Given the description of an element on the screen output the (x, y) to click on. 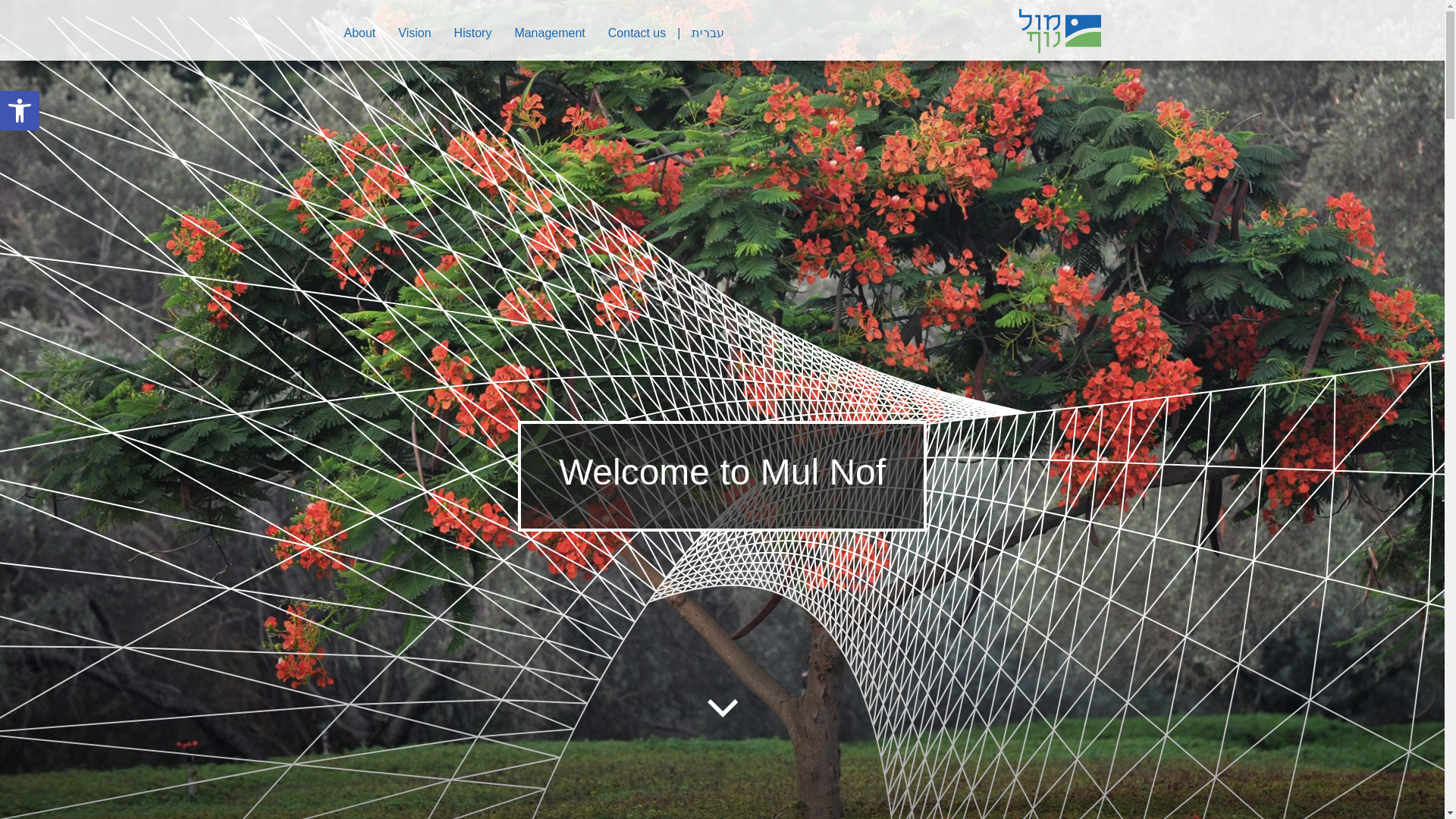
WEBSITE ACCESSIBILITY (19, 110)
WEBSITE ACCESSIBILITY (19, 110)
Contact us (19, 110)
Vision (636, 32)
History (413, 32)
skip to content (473, 32)
About (721, 707)
Management (359, 35)
Vision (549, 35)
Management (413, 35)
History (549, 32)
Contact us (473, 35)
About (636, 35)
